Given the description of an element on the screen output the (x, y) to click on. 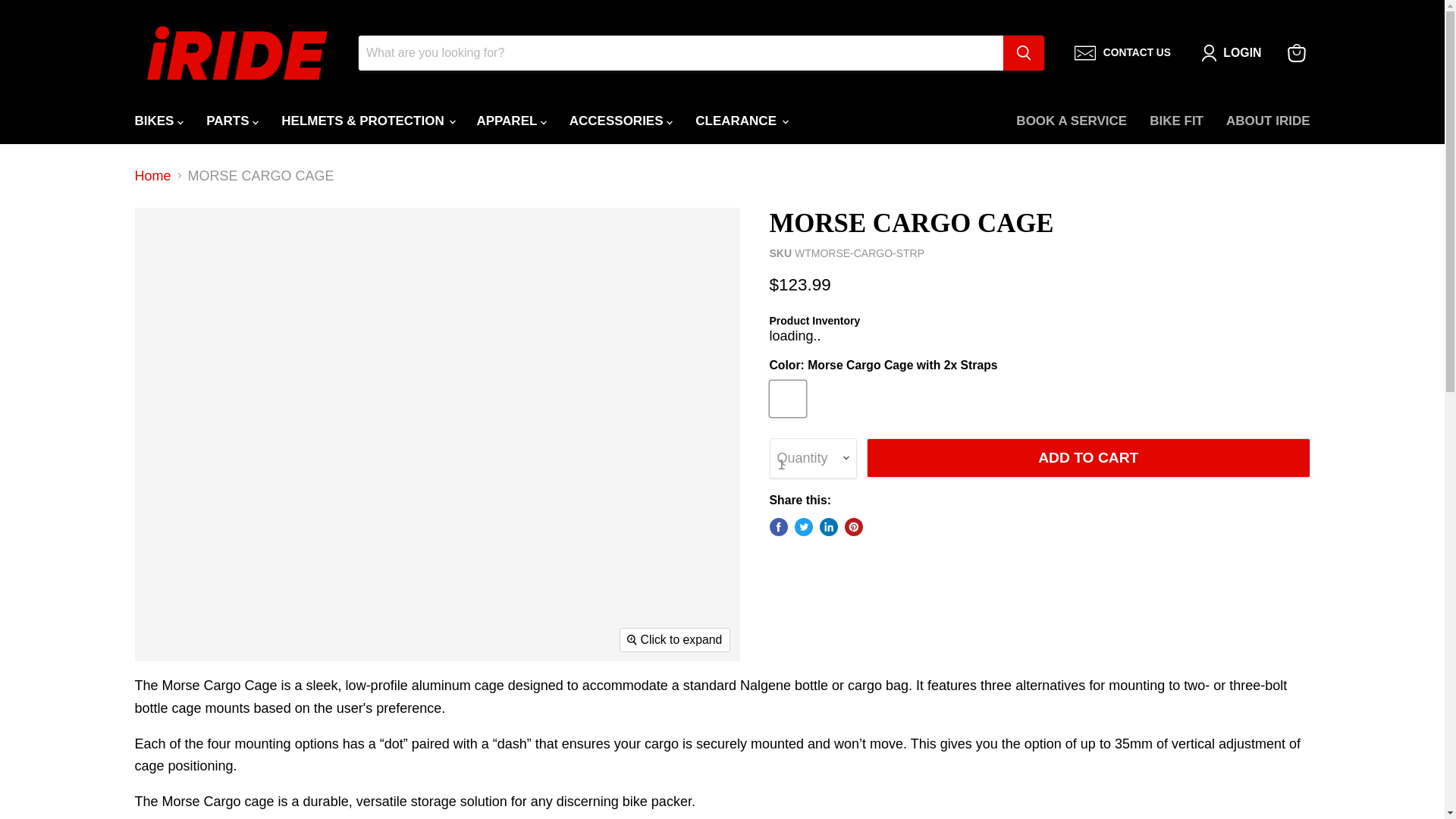
CONTACT US (1122, 52)
LOGIN (1241, 53)
View cart (1296, 52)
